Given the description of an element on the screen output the (x, y) to click on. 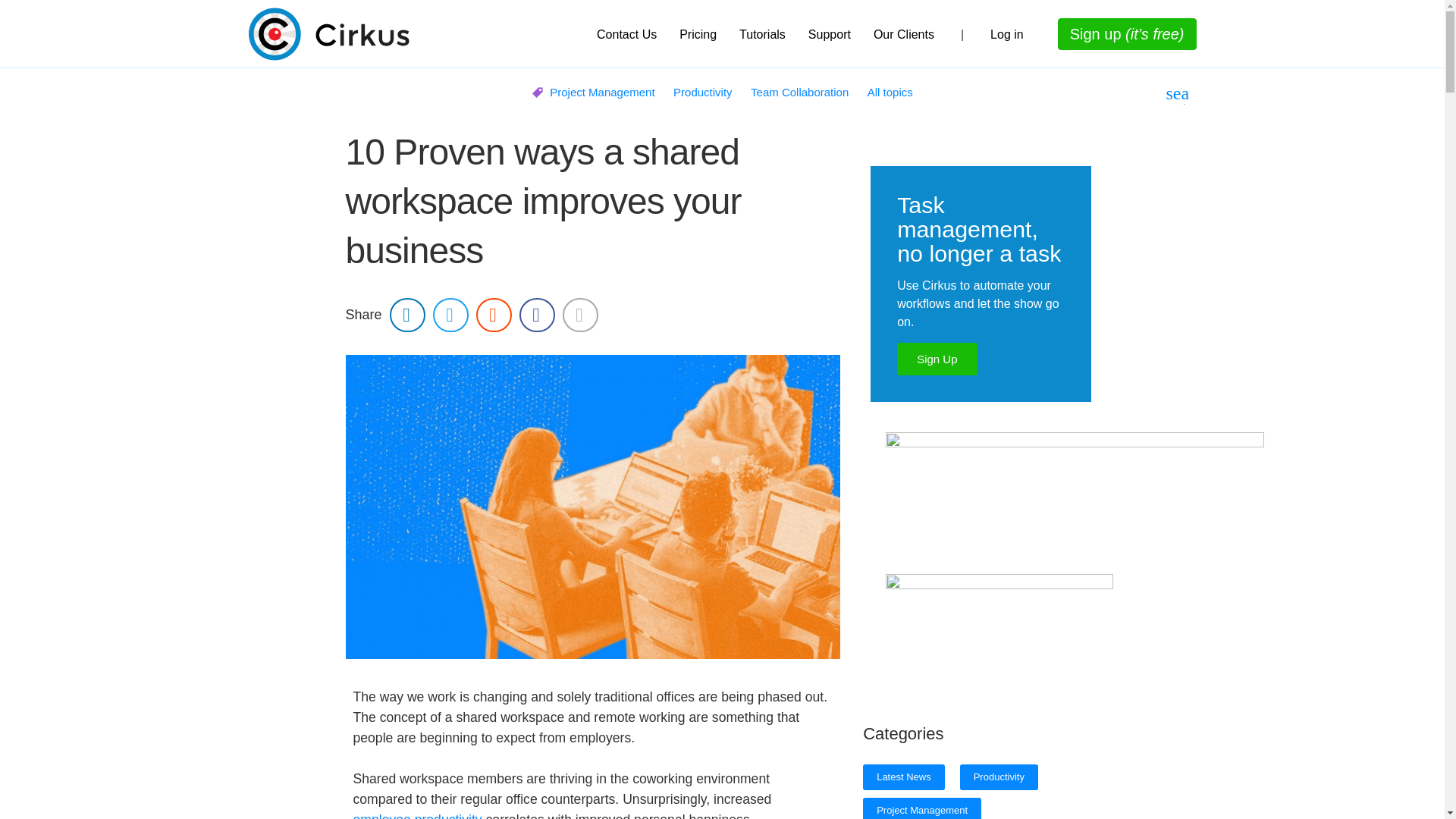
Latest News (903, 777)
Contact Us (626, 34)
Support (828, 34)
Productivity (702, 91)
Project Management (601, 91)
Log in (1006, 34)
All topics (889, 91)
employee productivity (417, 815)
Tutorials (762, 34)
Team Collaboration (799, 91)
Our Clients (902, 34)
Pricing (698, 34)
